Given the description of an element on the screen output the (x, y) to click on. 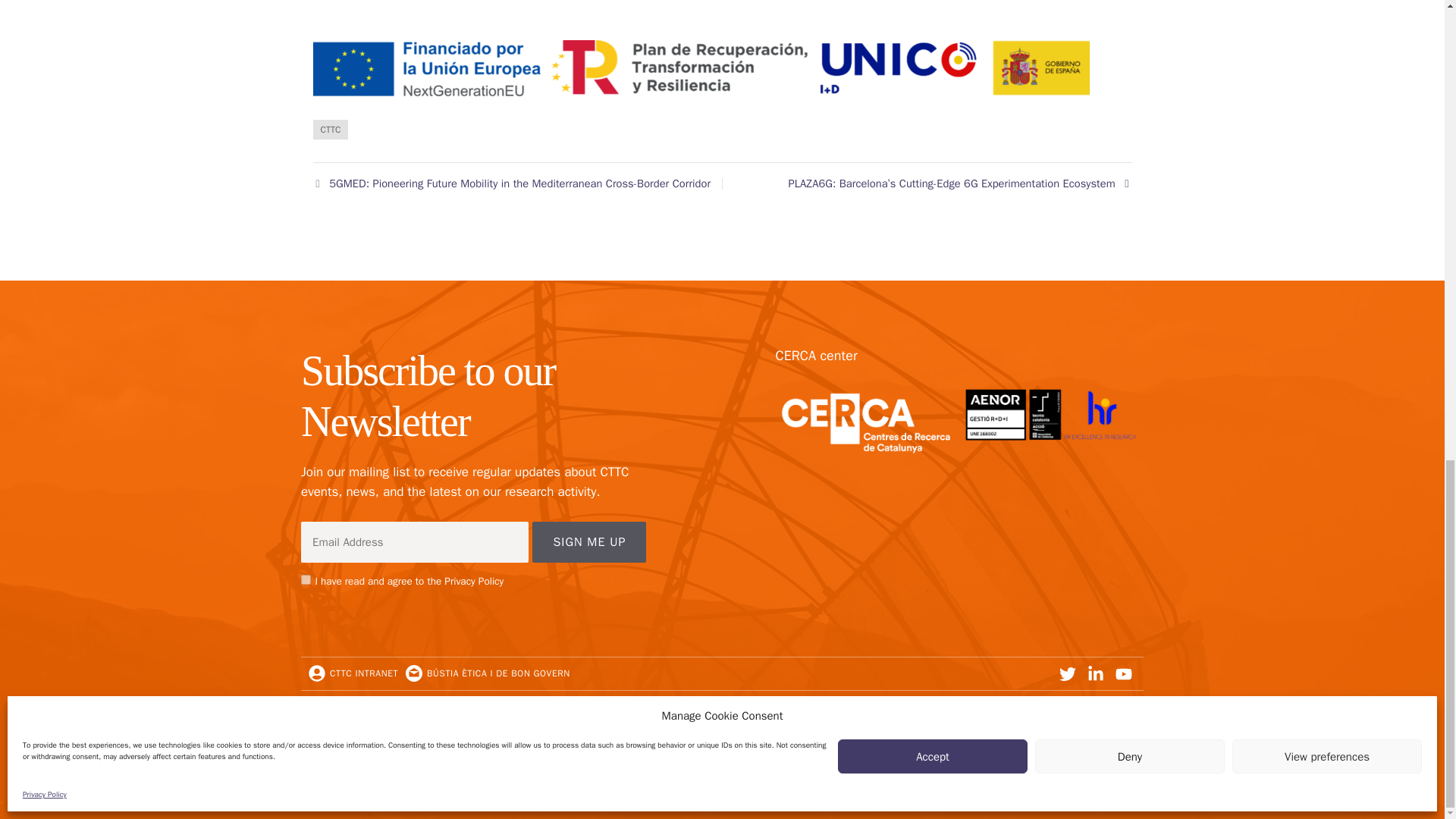
SIGN ME UP (589, 541)
Scroll back to top (1406, 479)
1 (306, 579)
